Given the description of an element on the screen output the (x, y) to click on. 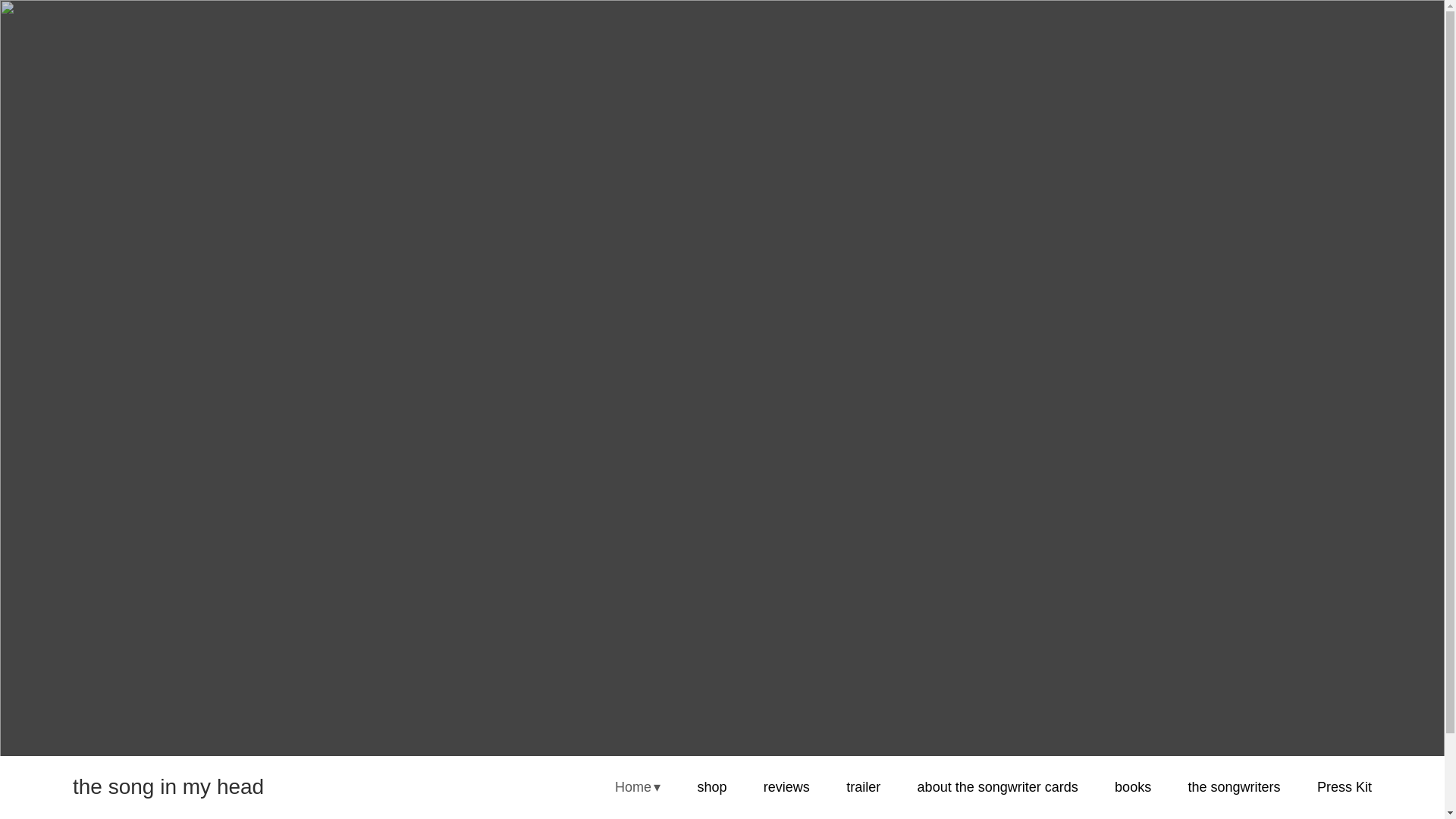
Press Kit (1344, 790)
books (1133, 794)
about the songwriter cards (997, 798)
trailer (862, 802)
the songwriters (1234, 792)
